Given the description of an element on the screen output the (x, y) to click on. 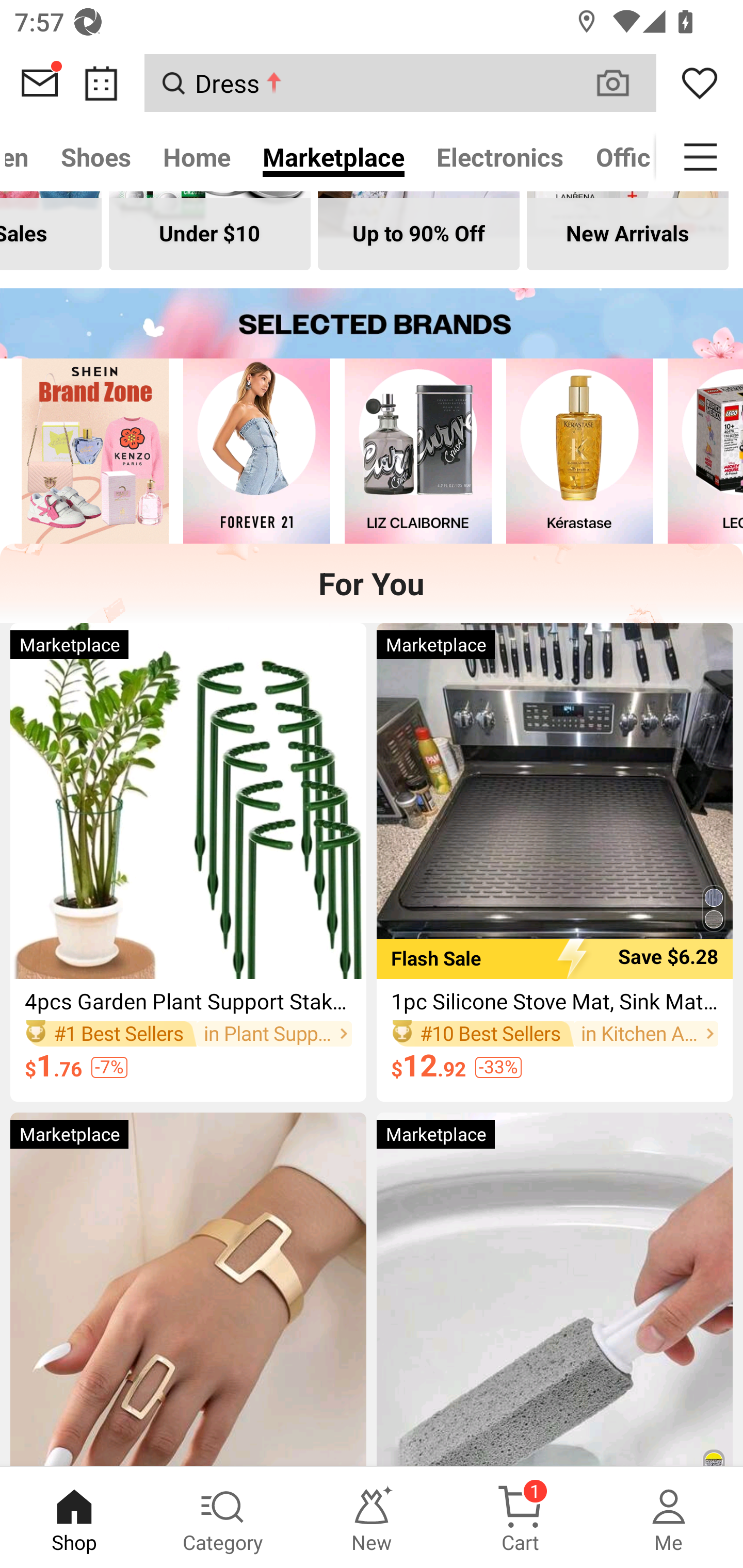
Wishlist (699, 82)
VISUAL SEARCH (623, 82)
Shoes (95, 156)
Home (196, 156)
Marketplace (333, 156)
Electronics (500, 156)
Office (618, 156)
Under $10 (209, 230)
Up to 90% Off (418, 230)
New Arrivals (627, 230)
#1 Best Sellers in Plant Support & Care (188, 1033)
#10 Best Sellers in Kitchen Appliance Parts (554, 1033)
Category (222, 1517)
New (371, 1517)
Cart 1 Cart (519, 1517)
Me (668, 1517)
